Given the description of an element on the screen output the (x, y) to click on. 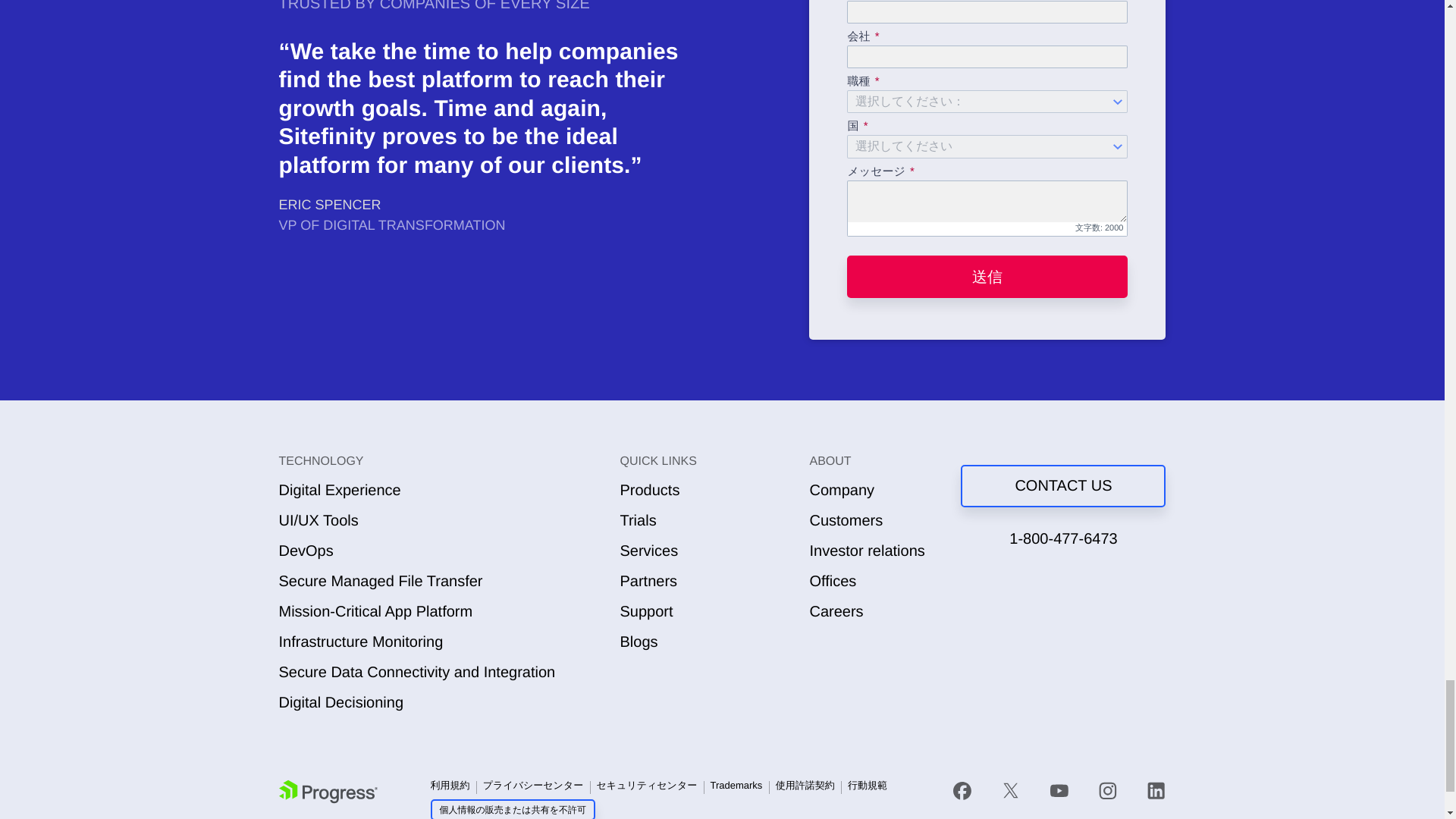
X (1010, 791)
X (1011, 790)
Progress (328, 791)
YouTube (1058, 791)
facebook (970, 790)
linkedin (1149, 790)
Instagram (1107, 791)
Facebook (962, 791)
instagram (1107, 790)
LinkedIn (1156, 791)
